Given the description of an element on the screen output the (x, y) to click on. 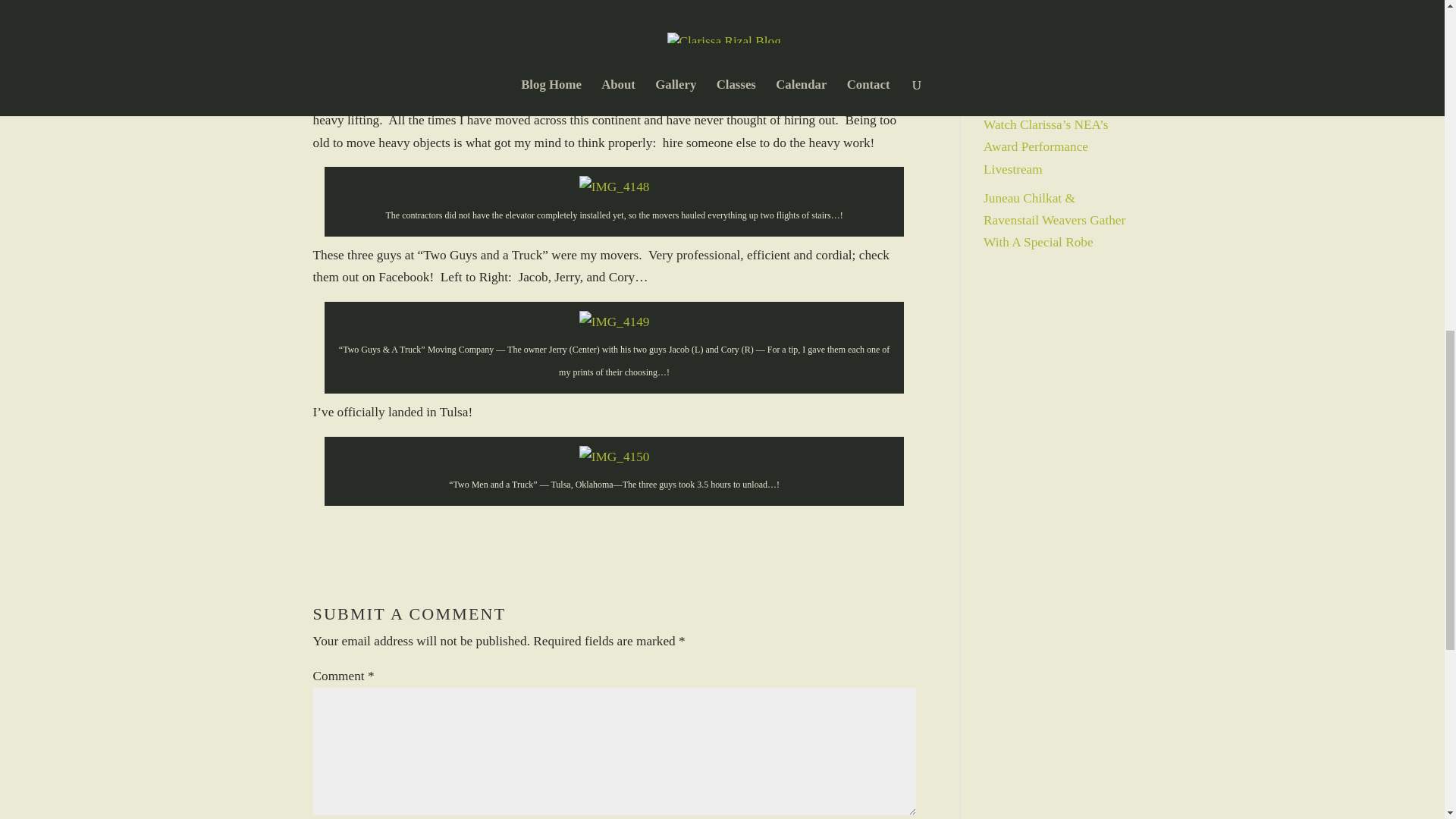
NEA National Fellowship Awardees on You Tube (1051, 33)
Weaving in the Midst of Movement (1046, 84)
